Given the description of an element on the screen output the (x, y) to click on. 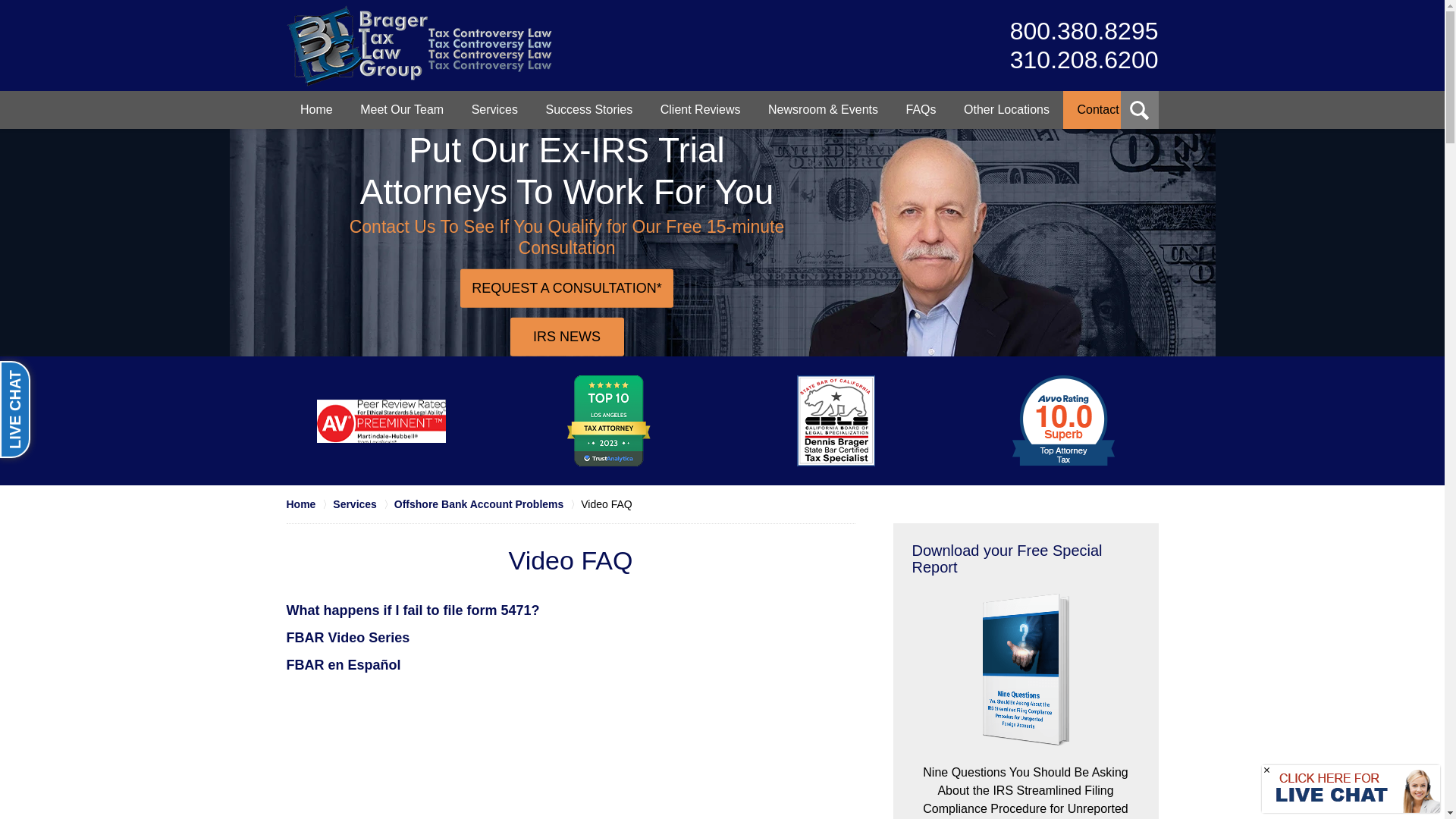
Meet Our Team (1084, 45)
Brager Tax Law Group Home (401, 109)
Other Locations (418, 44)
Back to Home (1005, 109)
Success Stories (418, 44)
Home (588, 109)
Services (316, 109)
FAQs (494, 109)
Client Reviews (920, 109)
